Given the description of an element on the screen output the (x, y) to click on. 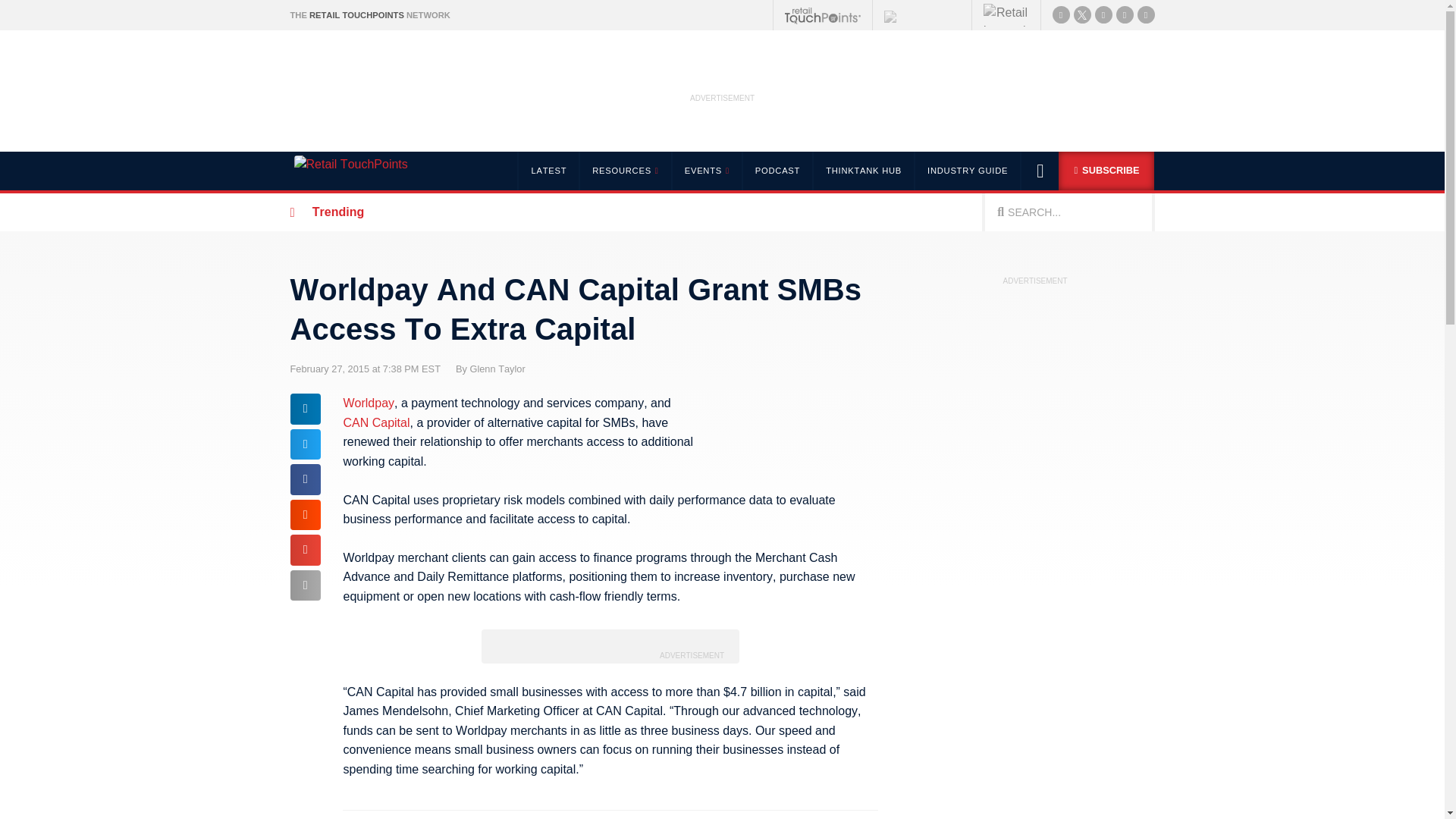
PODCAST (776, 170)
LATEST (547, 170)
EVENTS (706, 170)
INDUSTRY GUIDE (968, 170)
THINKTANK HUB (863, 170)
RESOURCES (623, 170)
